Given the description of an element on the screen output the (x, y) to click on. 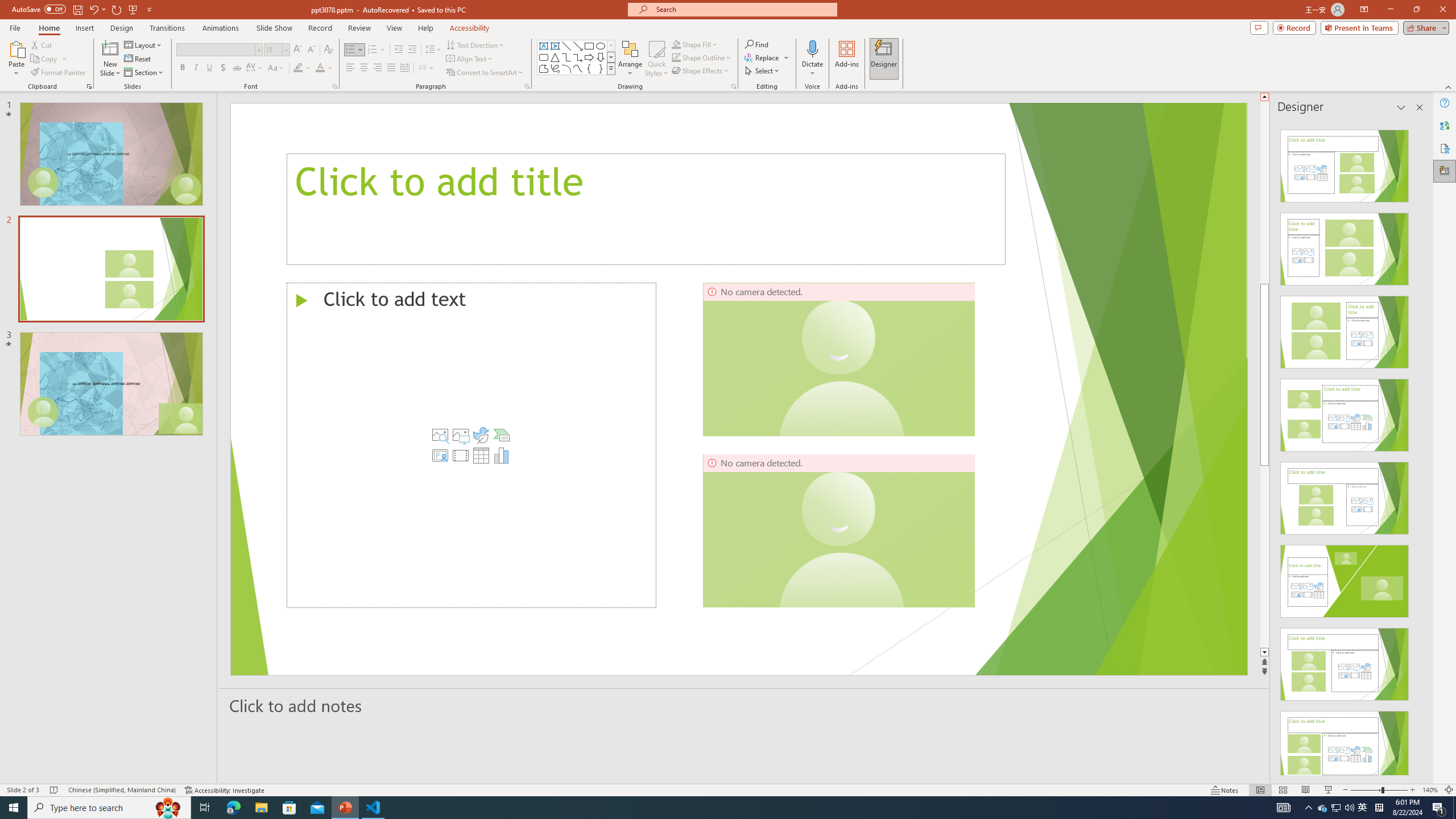
Insert Cameo (439, 455)
Convert to SmartArt (485, 72)
Align Text (470, 58)
Oval (600, 45)
Font... (334, 85)
Content Placeholder (471, 444)
